Given the description of an element on the screen output the (x, y) to click on. 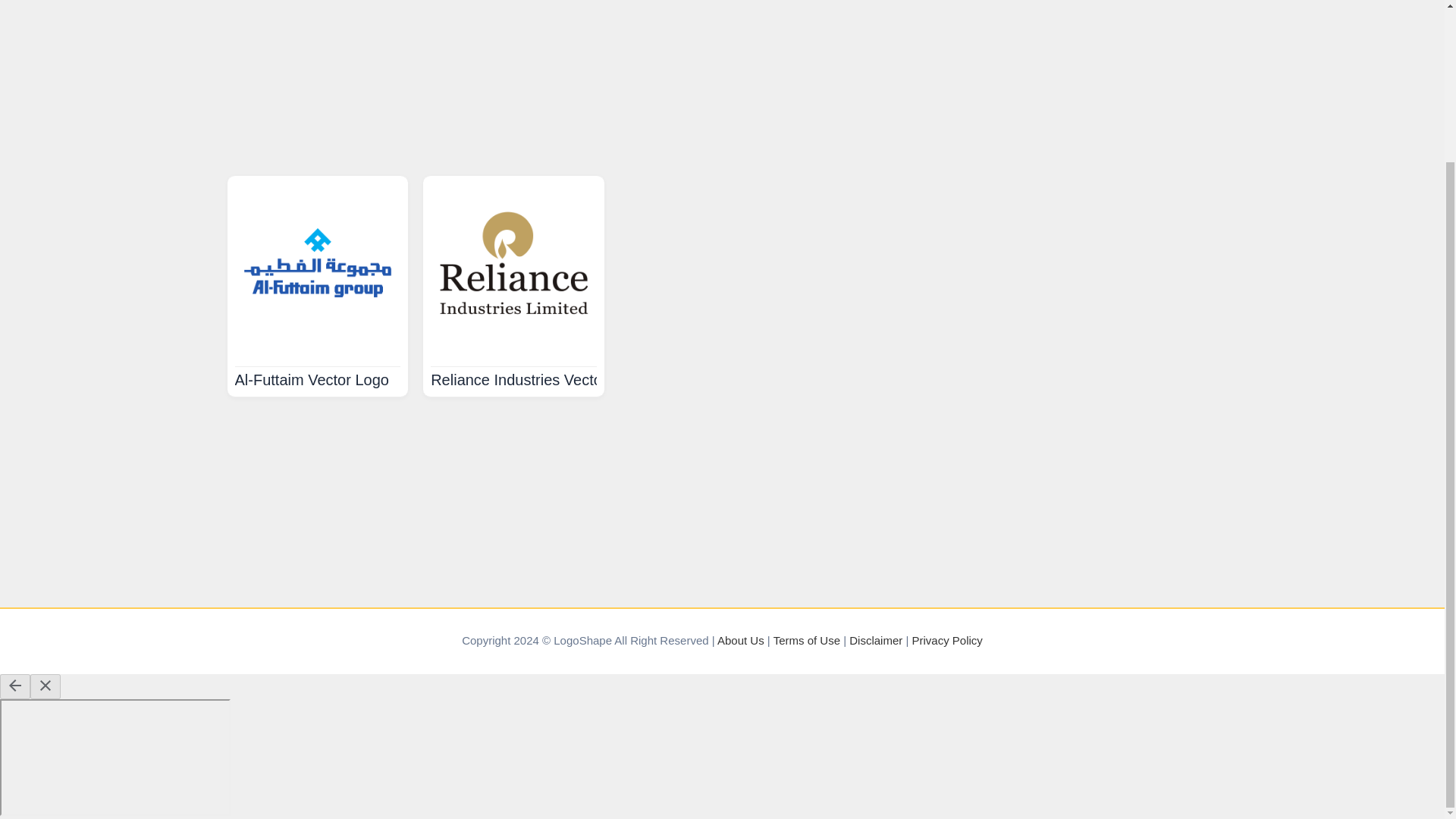
Reliance Industries Vector Logo (537, 379)
Advertisement (722, 80)
About Us (740, 640)
Terms of Use (806, 640)
Al-Futtaim Vector Logo (311, 379)
Privacy Policy (946, 640)
Disclaimer (875, 640)
